Given the description of an element on the screen output the (x, y) to click on. 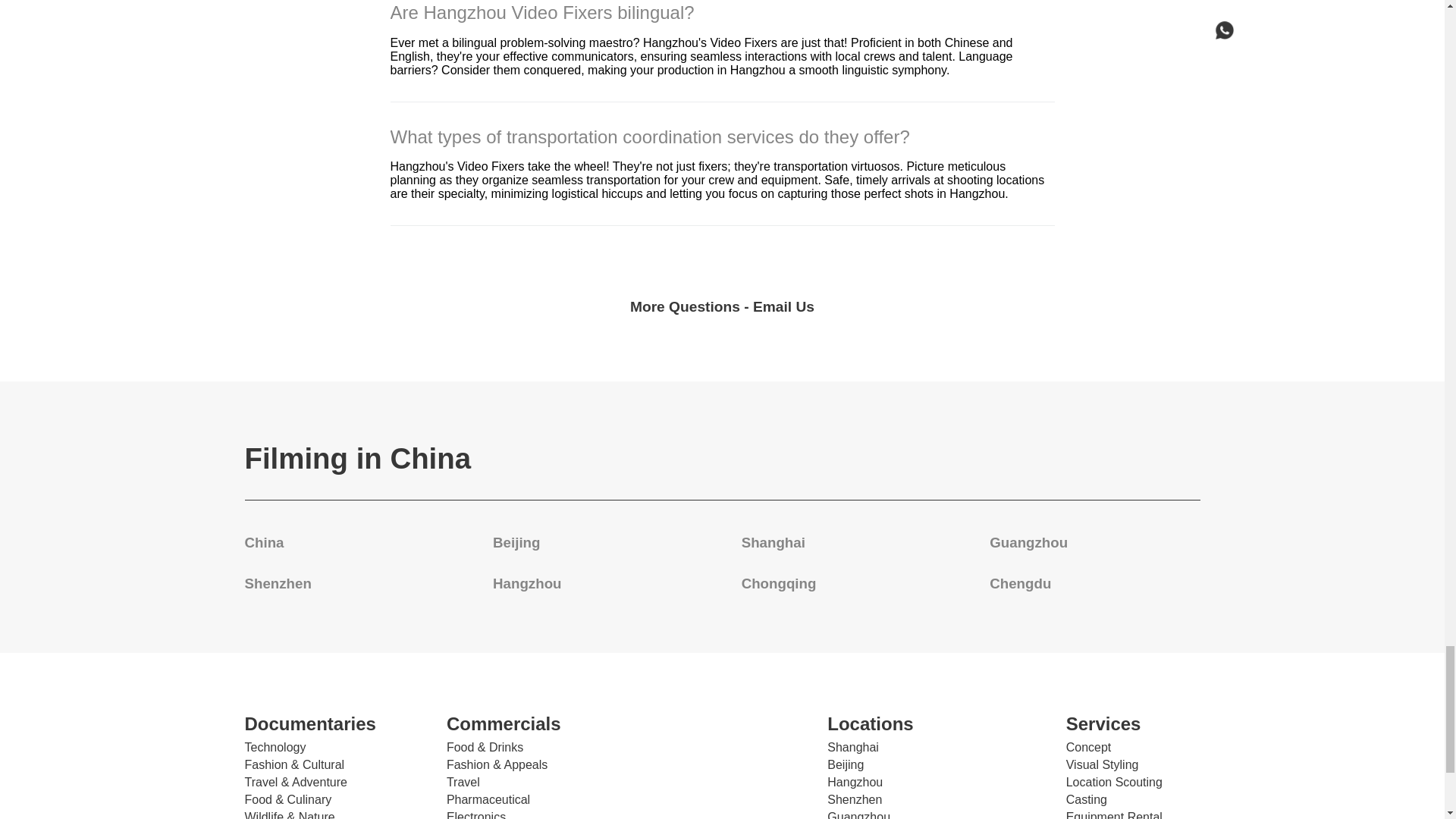
Hangzhou Video Production Fixer (526, 583)
Shanghai Video Production Fixer (773, 542)
Chengdu (1020, 583)
Documentaries (329, 723)
Technology (274, 747)
More Questions - Email Us (721, 306)
Shenzhen Video Production Fixer (277, 583)
Commercials (531, 723)
Chongqing (778, 583)
Beijing (516, 542)
